Given the description of an element on the screen output the (x, y) to click on. 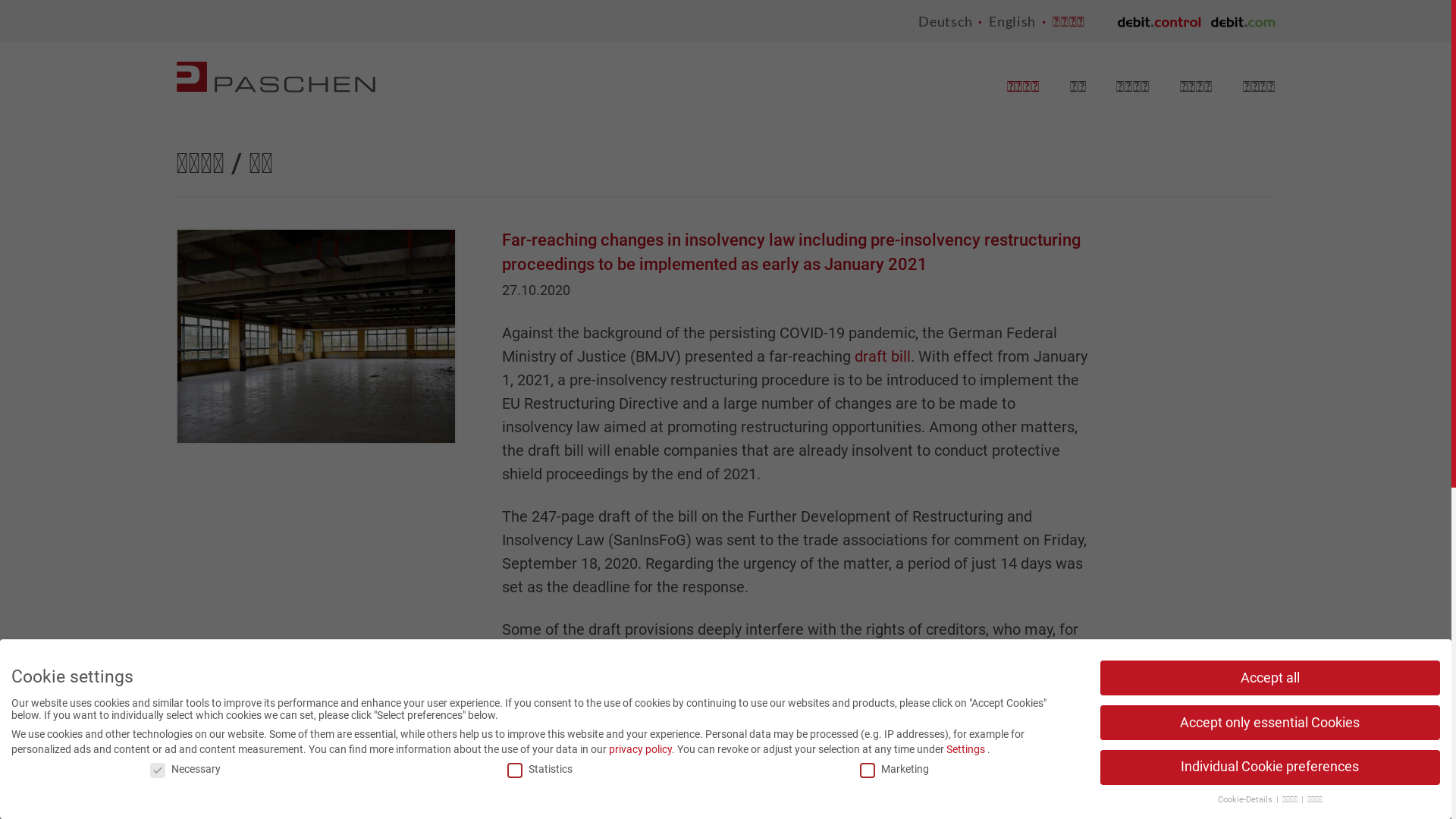
debit.control Element type: hover (1159, 20)
draft bill Element type: text (882, 356)
Cookie-Details Element type: text (1245, 799)
Accept all Element type: text (1269, 677)
debit.com Element type: hover (1242, 20)
Accept only essential Cookies Element type: text (1269, 722)
Settings Element type: text (965, 749)
Deutsch Element type: text (945, 20)
privacy policy Element type: text (639, 749)
Individual Cookie preferences Element type: text (1269, 766)
joint statement Element type: text (729, 746)
English Element type: text (1011, 20)
